Given the description of an element on the screen output the (x, y) to click on. 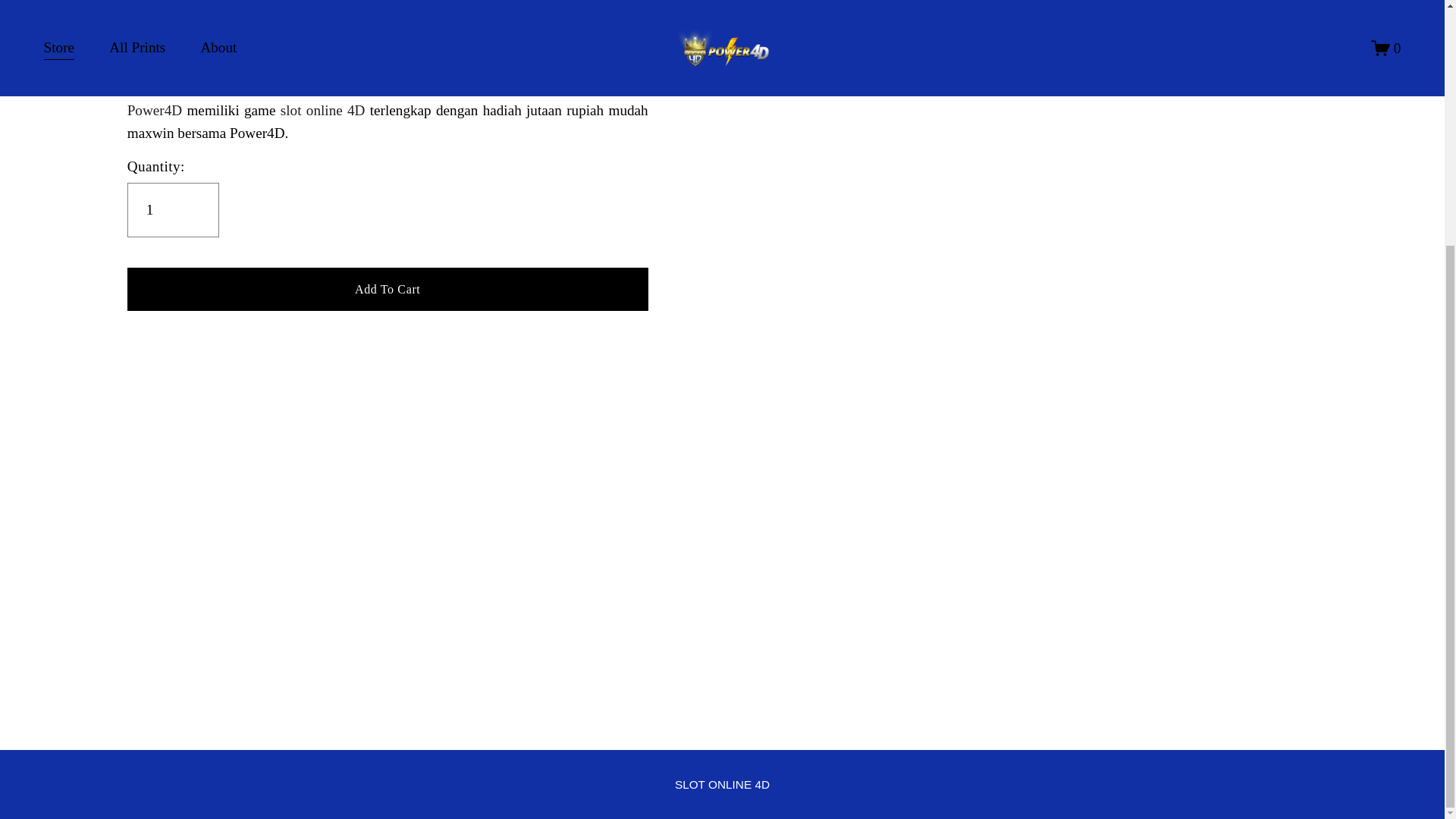
Add To Cart (387, 288)
Power4D (155, 109)
1 (173, 209)
SLOT ONLINE 4D (722, 784)
slot online 4D (722, 784)
slot online 4D (323, 109)
